Given the description of an element on the screen output the (x, y) to click on. 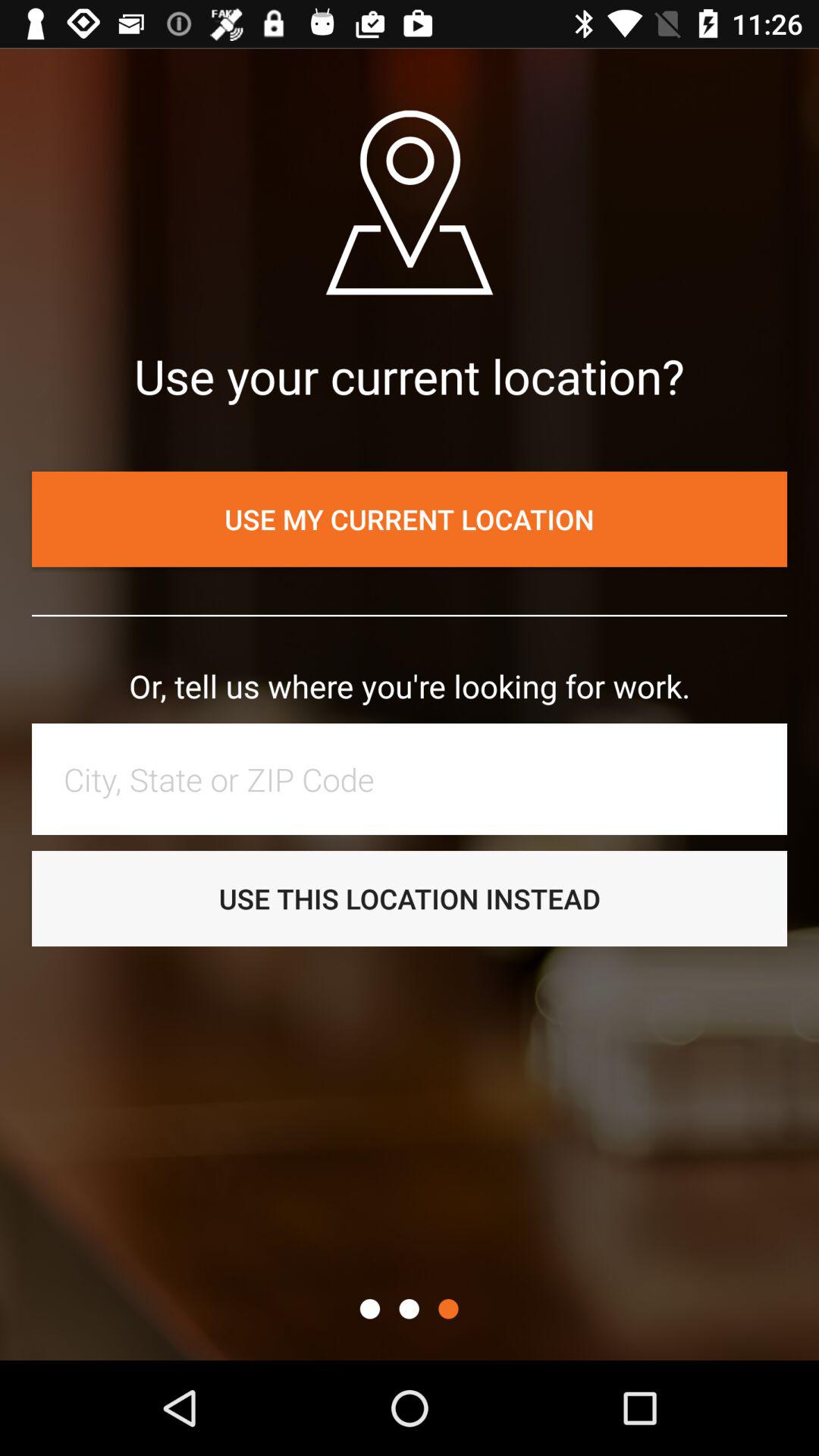
choose the item below the use this location icon (369, 1308)
